Given the description of an element on the screen output the (x, y) to click on. 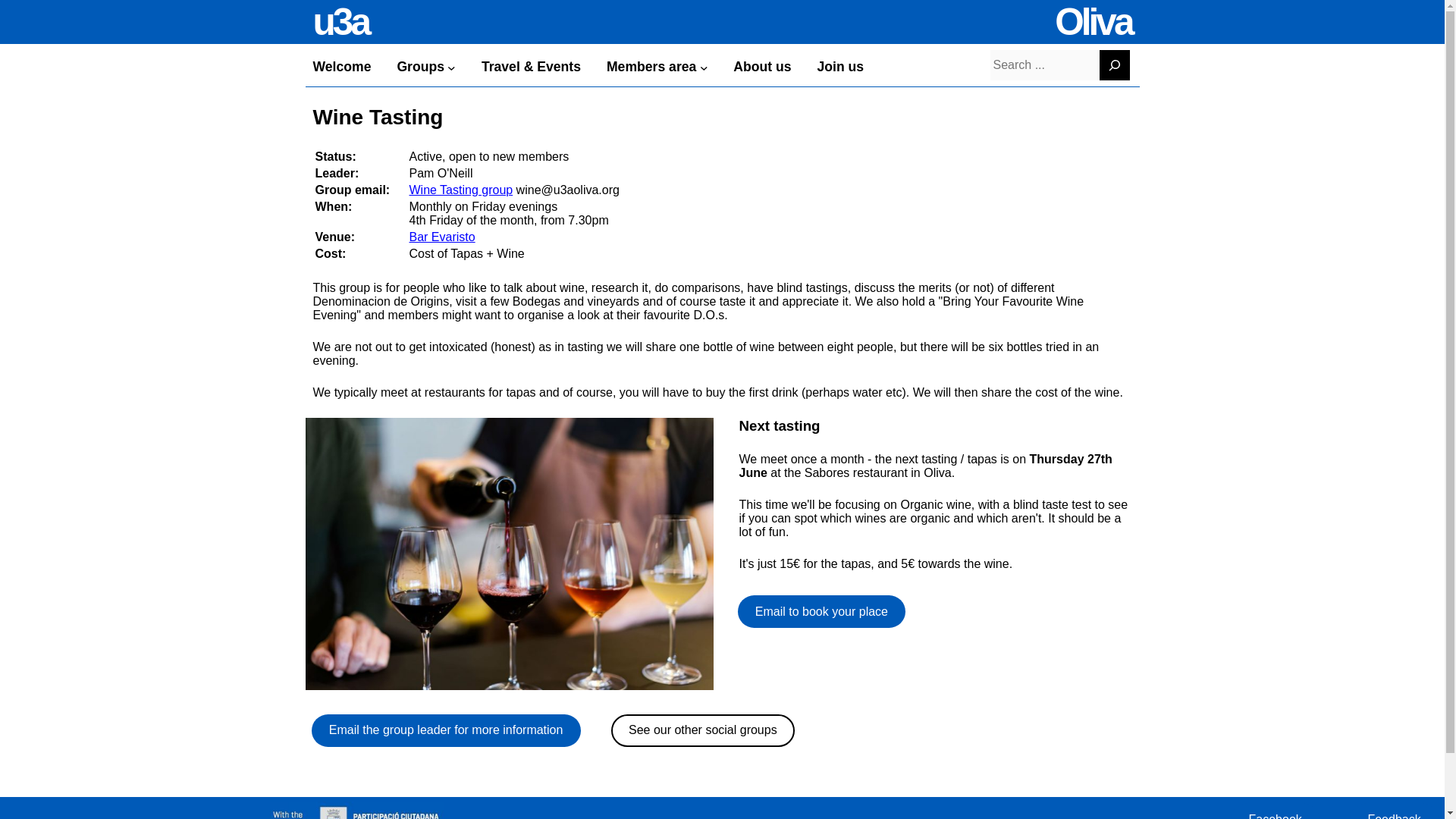
Welcome (342, 66)
Feedback (1393, 811)
Facebook (1274, 811)
See our other social groups (702, 730)
Join us (839, 66)
Members area (651, 66)
Email the group leader for more information (445, 730)
Email to book your place (820, 611)
About us (761, 66)
Wine Tasting group (461, 189)
